Given the description of an element on the screen output the (x, y) to click on. 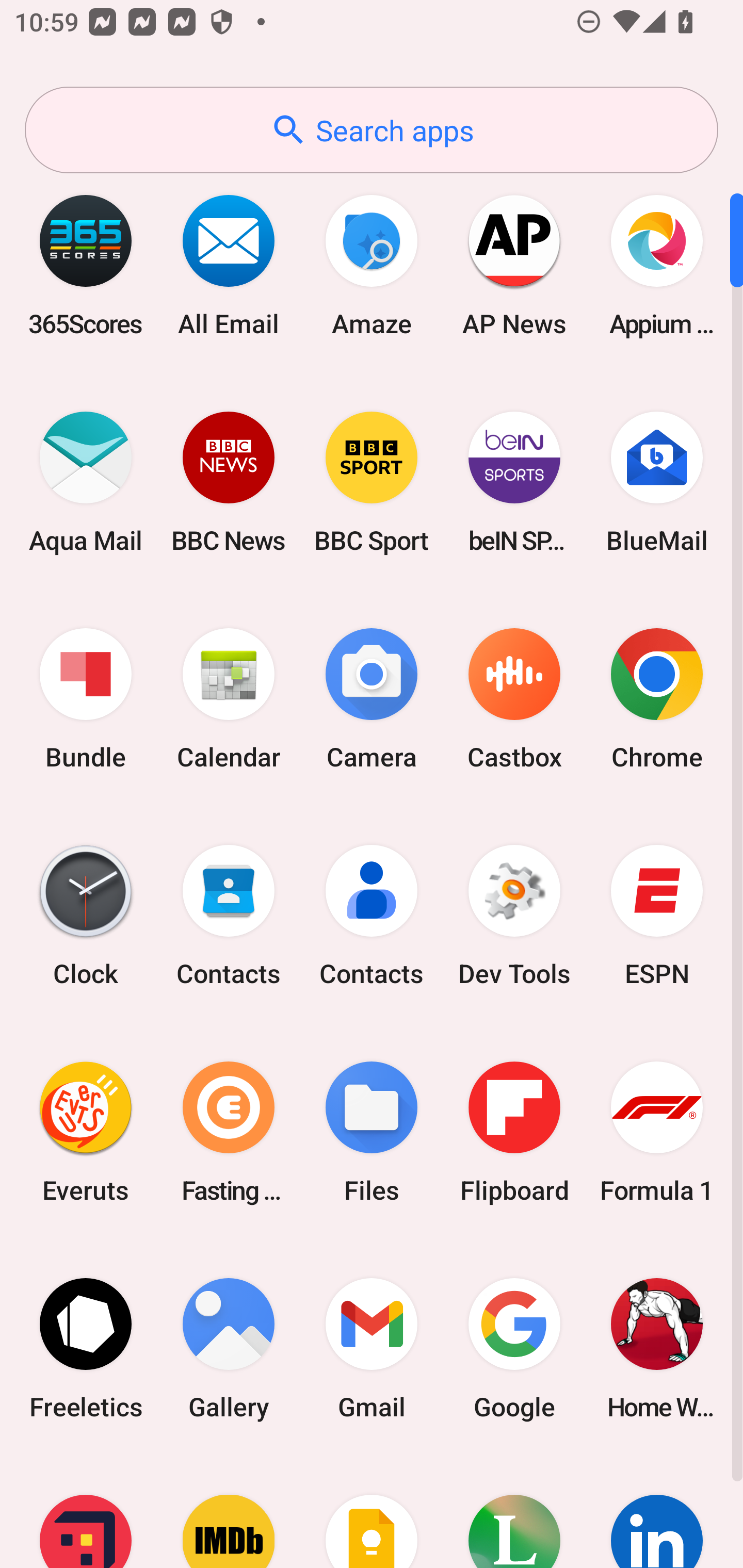
  Search apps (371, 130)
365Scores (85, 264)
All Email (228, 264)
Amaze (371, 264)
AP News (514, 264)
Appium Settings (656, 264)
Aqua Mail (85, 482)
BBC News (228, 482)
BBC Sport (371, 482)
beIN SPORTS (514, 482)
BlueMail (656, 482)
Bundle (85, 699)
Calendar (228, 699)
Camera (371, 699)
Castbox (514, 699)
Chrome (656, 699)
Clock (85, 915)
Contacts (228, 915)
Contacts (371, 915)
Dev Tools (514, 915)
ESPN (656, 915)
Everuts (85, 1131)
Fasting Coach (228, 1131)
Files (371, 1131)
Flipboard (514, 1131)
Formula 1 (656, 1131)
Freeletics (85, 1348)
Gallery (228, 1348)
Gmail (371, 1348)
Google (514, 1348)
Home Workout (656, 1348)
Hotels.com (85, 1512)
IMDb (228, 1512)
Keep Notes (371, 1512)
Lifesum (514, 1512)
LinkedIn (656, 1512)
